Given the description of an element on the screen output the (x, y) to click on. 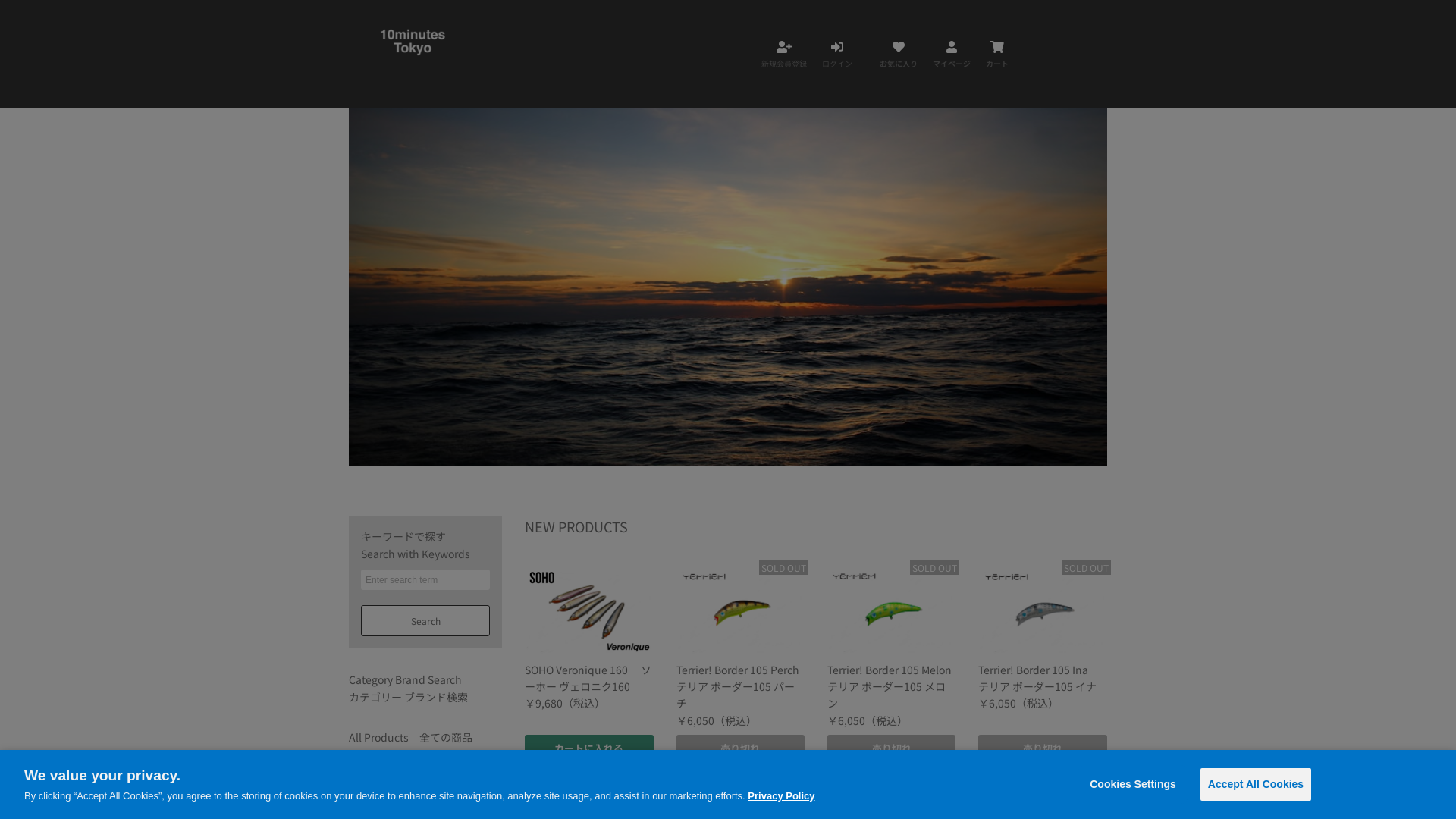
Search Element type: text (424, 620)
